Given the description of an element on the screen output the (x, y) to click on. 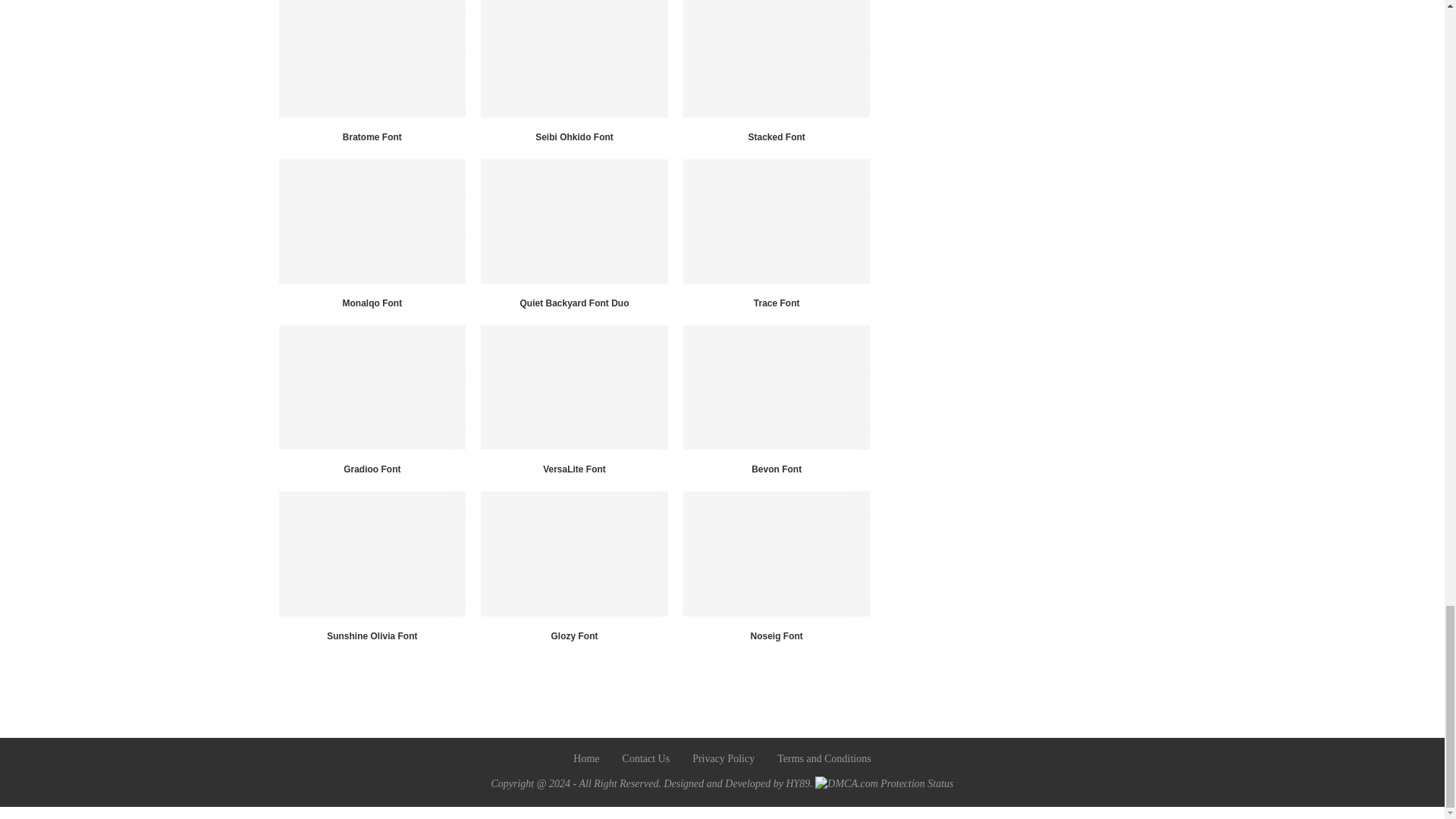
Seibi Ohkido Font (574, 58)
Monalqo Font (372, 220)
Gradioo Font (372, 387)
Trace Font (776, 220)
Stacked Font (776, 58)
Quiet Backyard Font Duo (574, 220)
Bratome Font (372, 58)
VersaLite Font (574, 387)
